Given the description of an element on the screen output the (x, y) to click on. 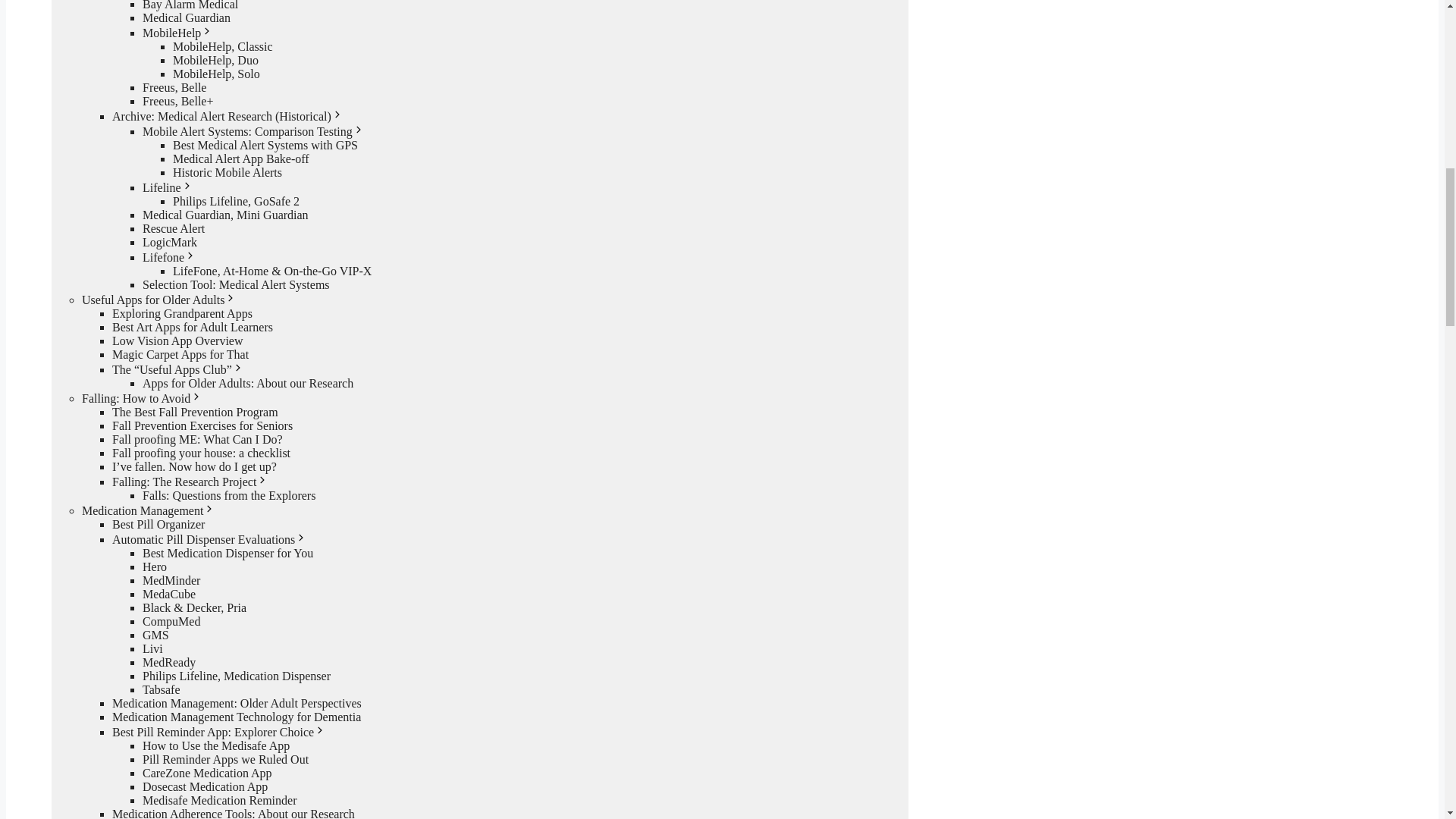
Scroll back to top (1406, 720)
